Given the description of an element on the screen output the (x, y) to click on. 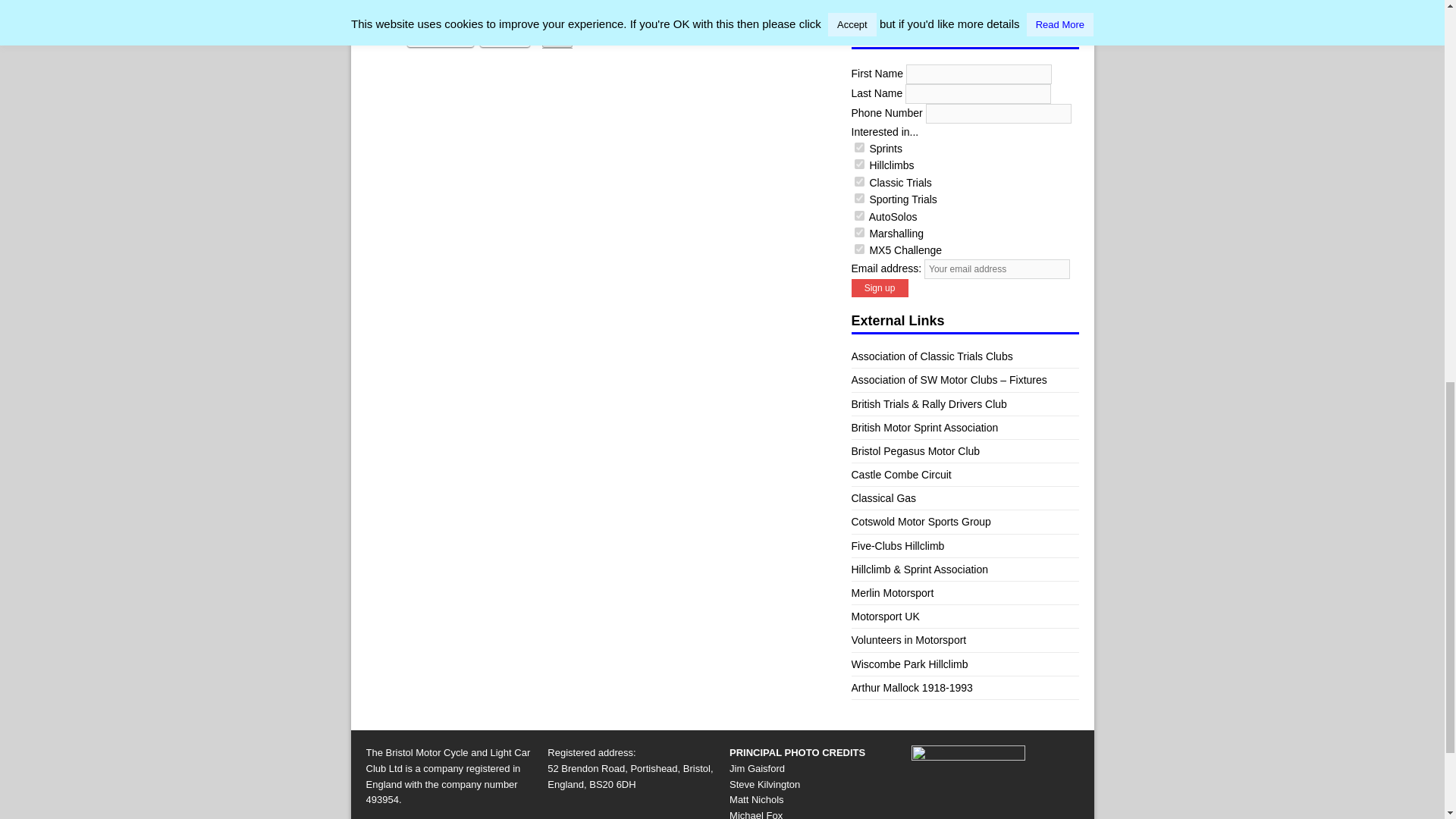
Sign up (878, 288)
66f313dd01 (858, 248)
6f500b9921 (858, 215)
Click to share on Reddit (504, 39)
AJM Prestigious Motor Storage (956, 4)
d4f7bede38 (858, 198)
Click to share on WhatsApp (440, 39)
cb7f0d87b8 (858, 147)
bbf20dee36 (858, 232)
1b3ba9a616 (858, 181)
